Given the description of an element on the screen output the (x, y) to click on. 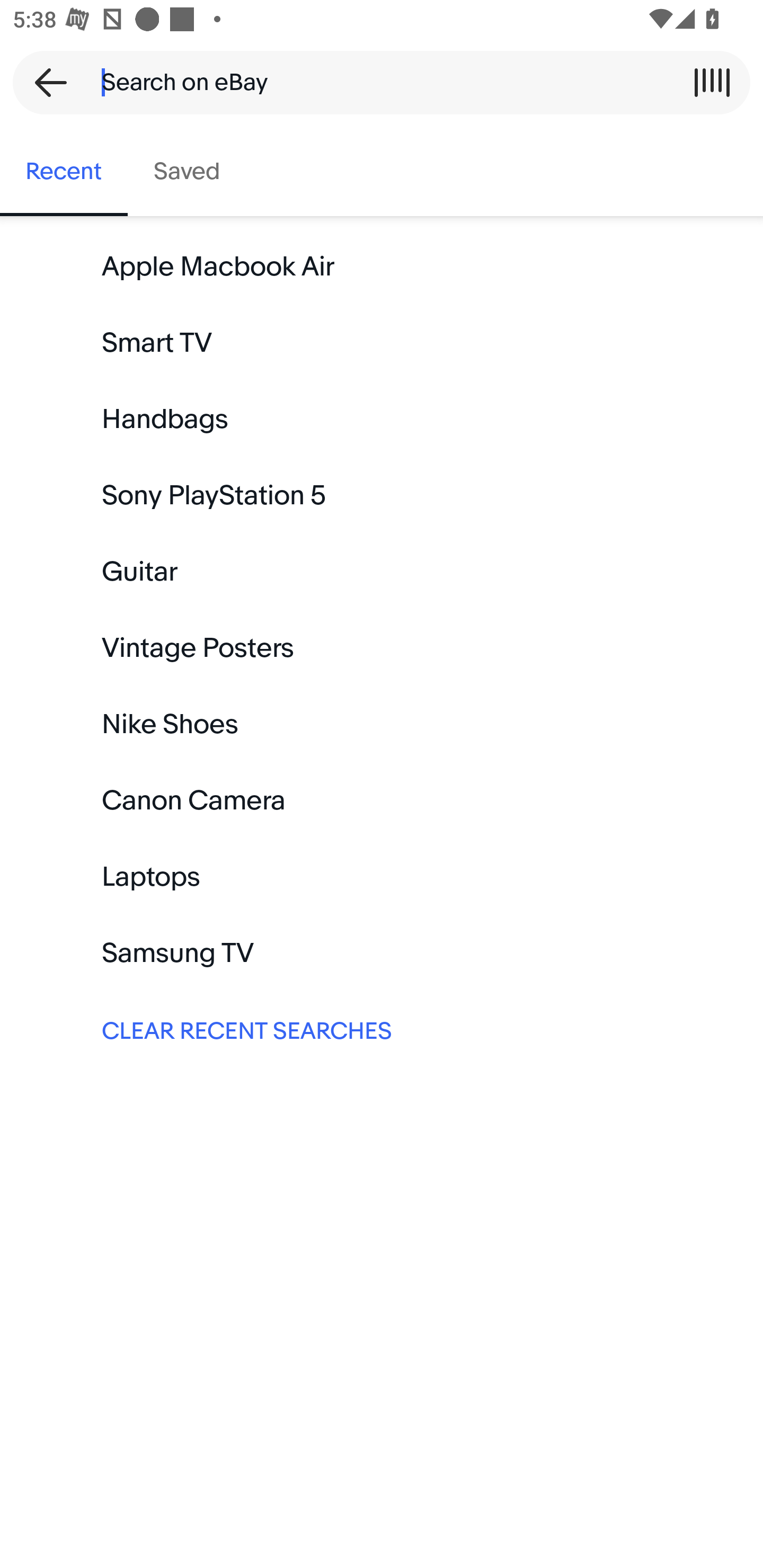
Back (44, 82)
Scan a barcode (711, 82)
Search on eBay (375, 82)
Saved, tab 2 of 2 Saved (186, 171)
Smart TV Keyword search Smart TV: (381, 343)
Handbags Keyword search Handbags: (381, 419)
Guitar Keyword search Guitar: (381, 571)
Vintage Posters Keyword search Vintage Posters: (381, 647)
Nike Shoes Keyword search Nike Shoes: (381, 724)
Canon Camera Keyword search Canon Camera: (381, 800)
Laptops Keyword search Laptops: (381, 876)
Samsung TV Keyword search Samsung TV: (381, 952)
CLEAR RECENT SEARCHES (381, 1028)
